Given the description of an element on the screen output the (x, y) to click on. 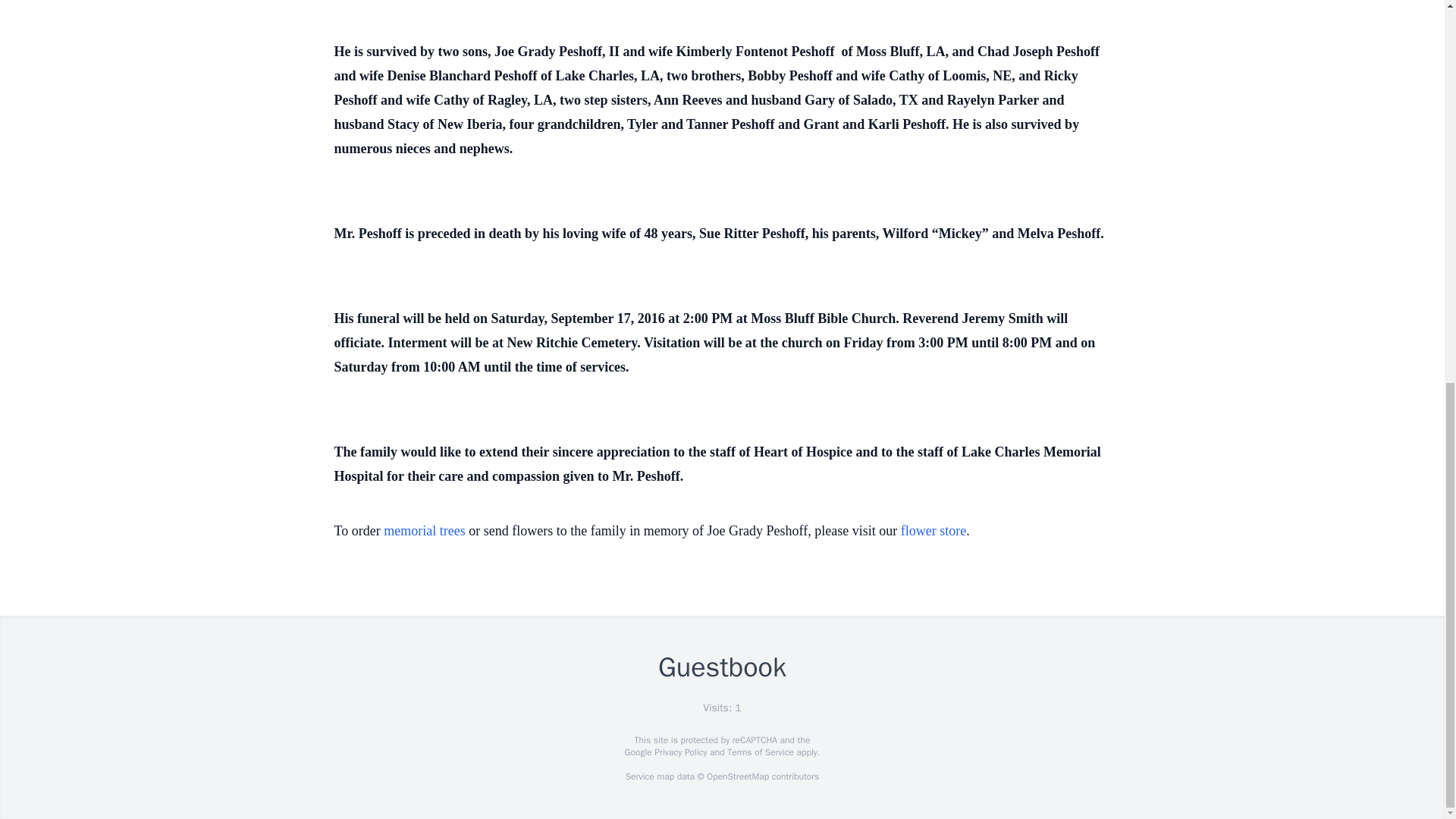
flower store (933, 530)
OpenStreetMap (737, 776)
Terms of Service (759, 752)
memorial trees (424, 530)
Privacy Policy (679, 752)
